Given the description of an element on the screen output the (x, y) to click on. 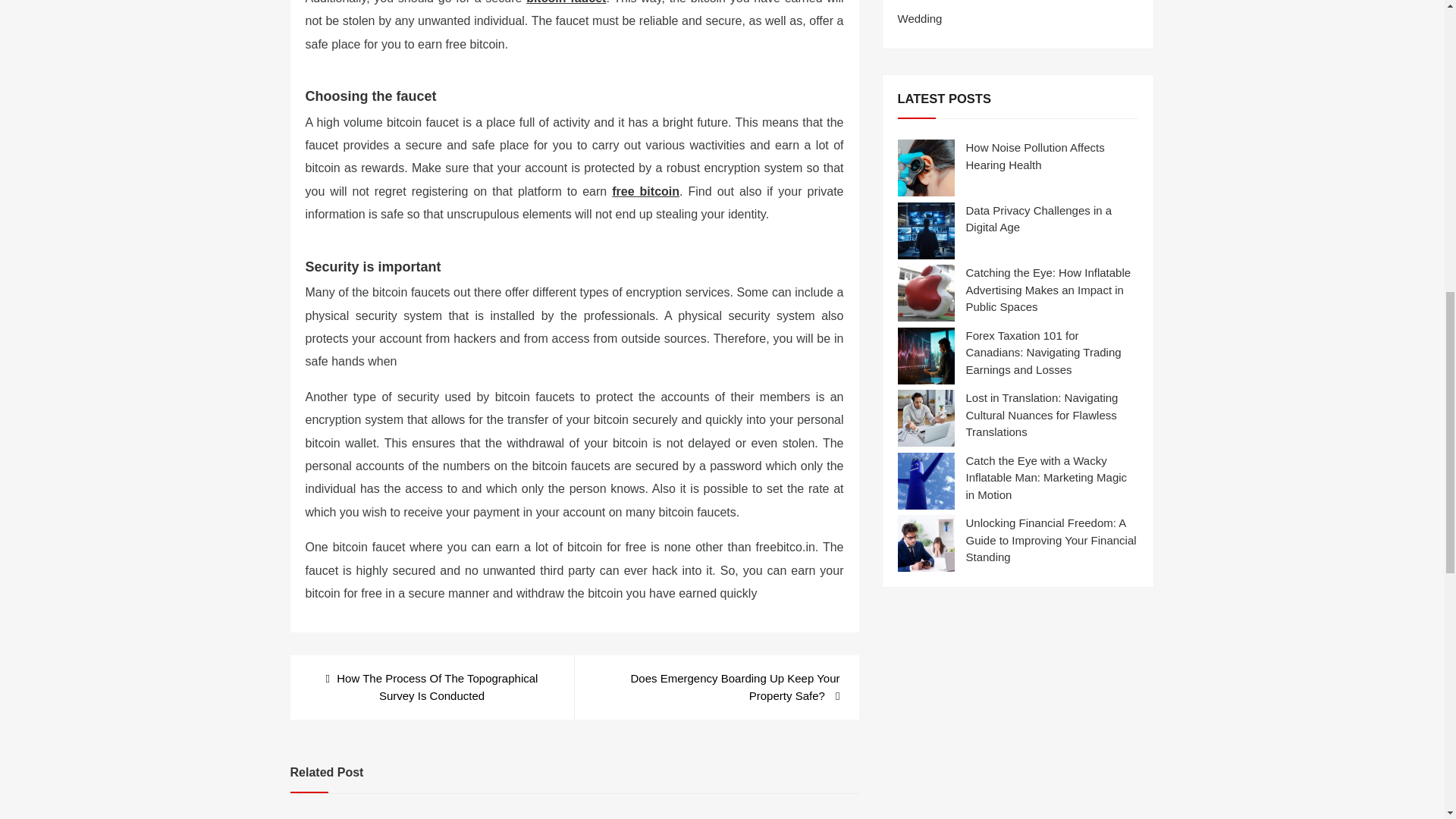
free bitcoin (645, 191)
How The Process Of The Topographical Survey Is Conducted (431, 687)
bitcoin faucet (565, 2)
Does Emergency Boarding Up Keep Your Property Safe? (716, 687)
